Given the description of an element on the screen output the (x, y) to click on. 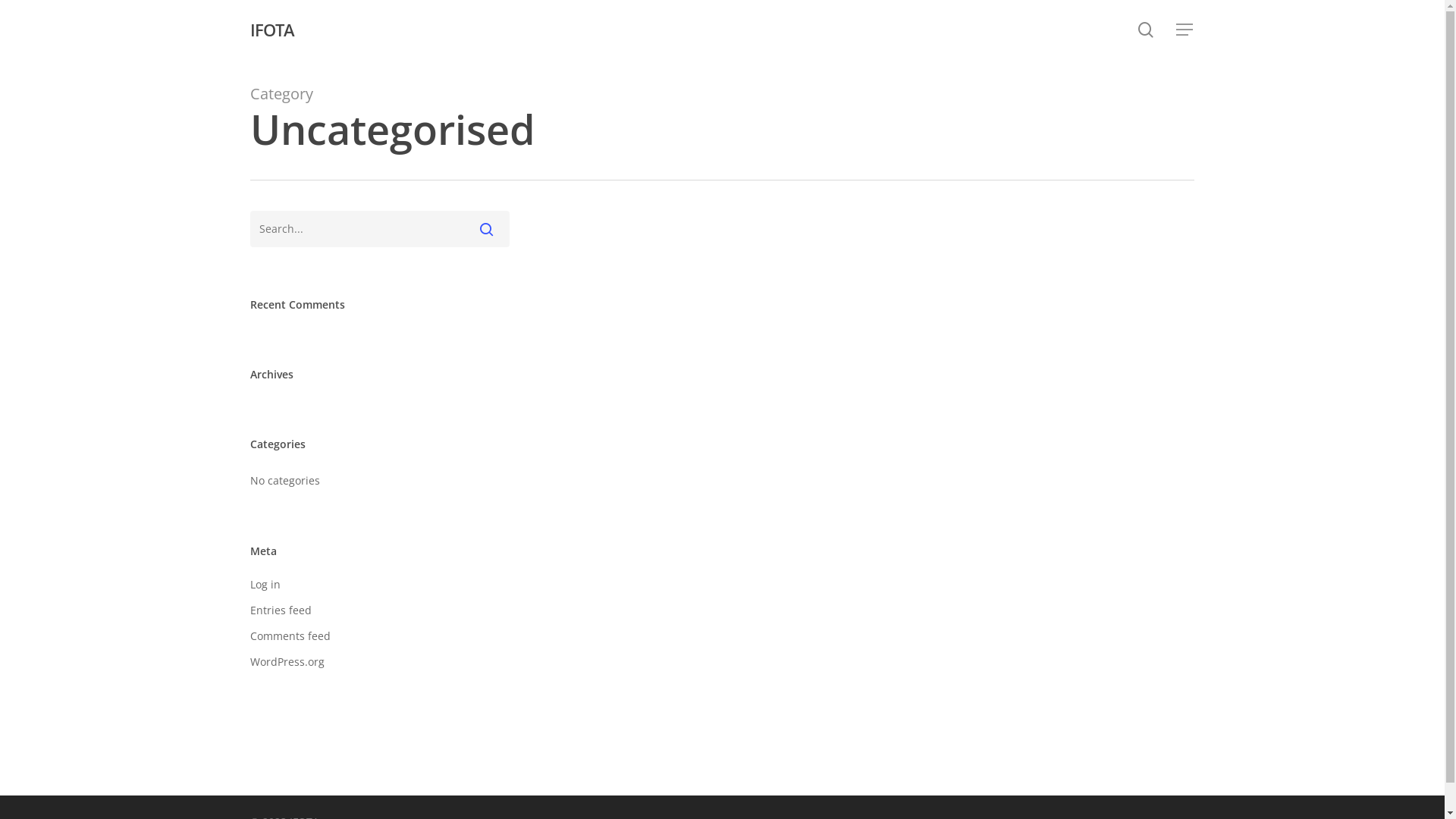
Entries feed Element type: text (379, 610)
Menu Element type: text (1185, 29)
IFOTA Element type: text (272, 29)
Log in Element type: text (379, 584)
search Element type: text (1145, 29)
Search for: Element type: hover (379, 228)
Comments feed Element type: text (379, 636)
WordPress.org Element type: text (379, 661)
